Given the description of an element on the screen output the (x, y) to click on. 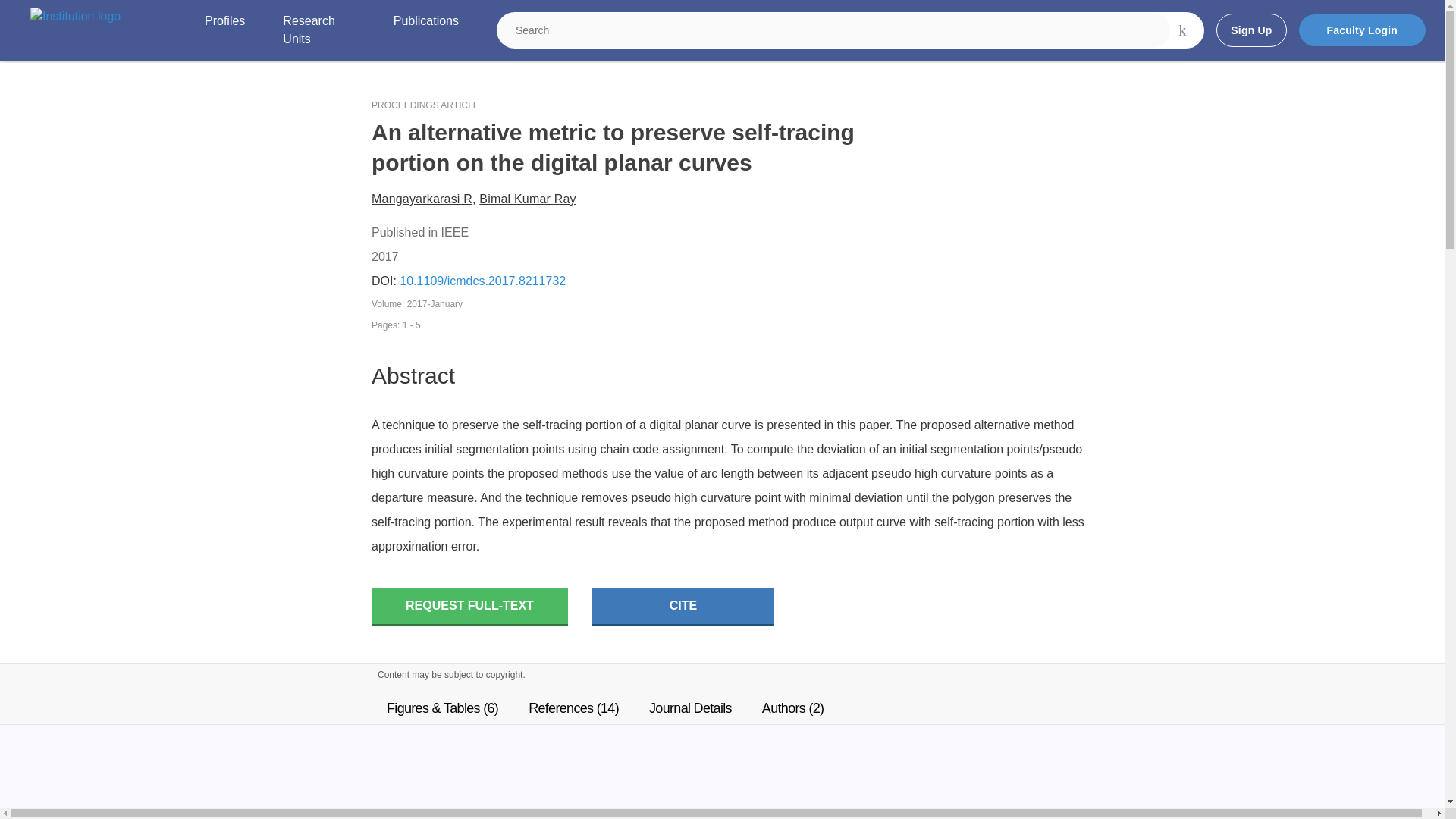
Mangayarkarasi R (421, 198)
Sign Up (1250, 29)
Institution logo (75, 16)
Bimal Kumar Ray (527, 198)
Research Units (318, 30)
Journal Details (689, 707)
CITE (683, 607)
REQUEST FULL-TEXT (469, 607)
Profiles (224, 30)
Faculty Login (1361, 29)
Publications (425, 30)
